Given the description of an element on the screen output the (x, y) to click on. 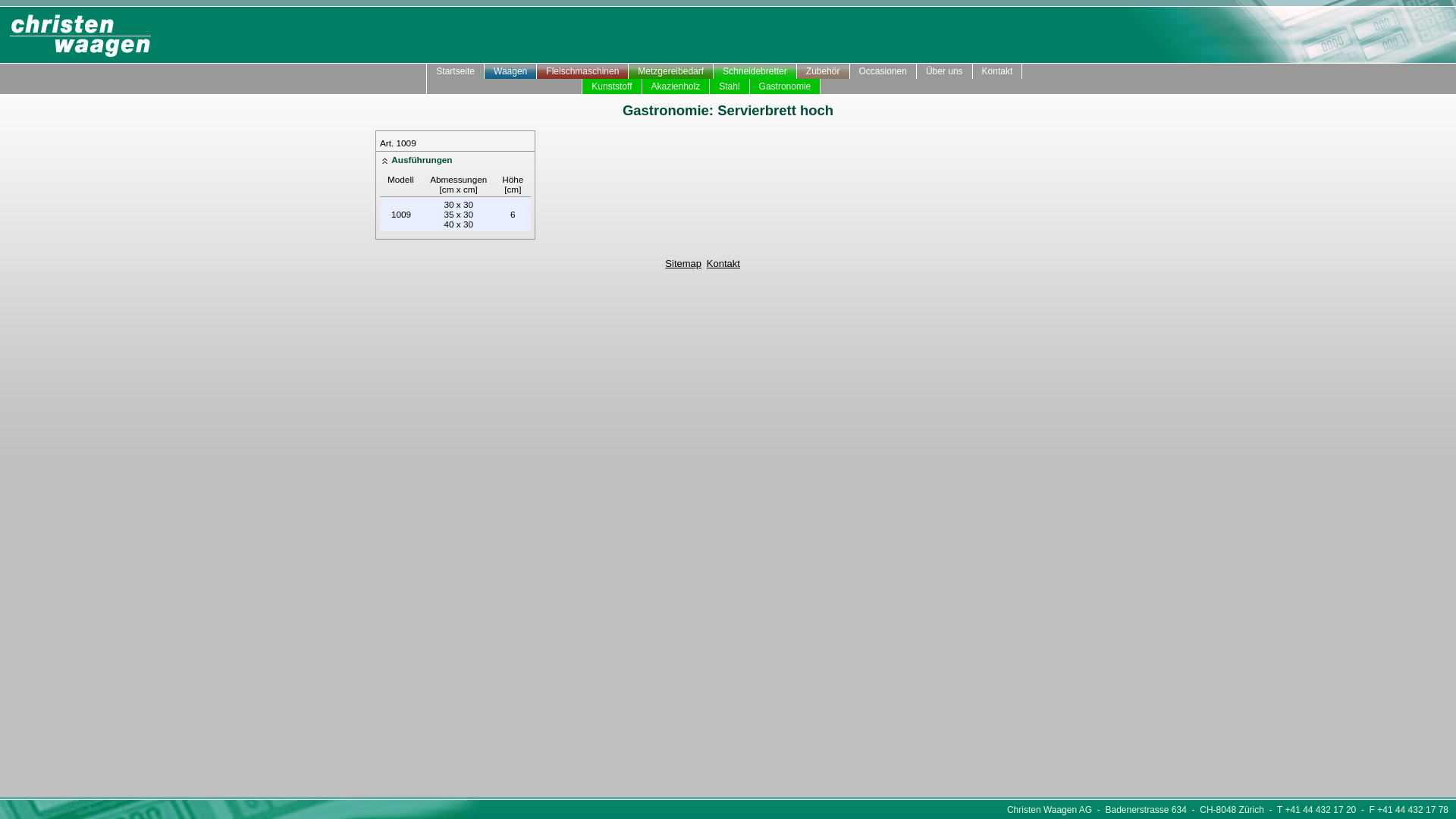
Kontakt Element type: text (997, 70)
  -  T +41 44 432 17 20  -  F +41 44 432 17 78 Element type: text (1356, 809)
Metzgereibedarf Element type: text (670, 70)
Schneidebretter Element type: text (755, 70)
Occasionen Element type: text (882, 70)
  Element type: text (415, 70)
Kunststoff Element type: text (611, 86)
Kontakt Element type: text (723, 263)
Startseite Element type: text (455, 70)
Gastronomie Element type: text (785, 86)
Fleischmaschinen Element type: text (582, 70)
Stahl Element type: text (729, 86)
Sitemap Element type: text (683, 263)
Waagen Element type: text (510, 70)
  Element type: text (415, 86)
Akazienholz Element type: text (675, 86)
